Given the description of an element on the screen output the (x, y) to click on. 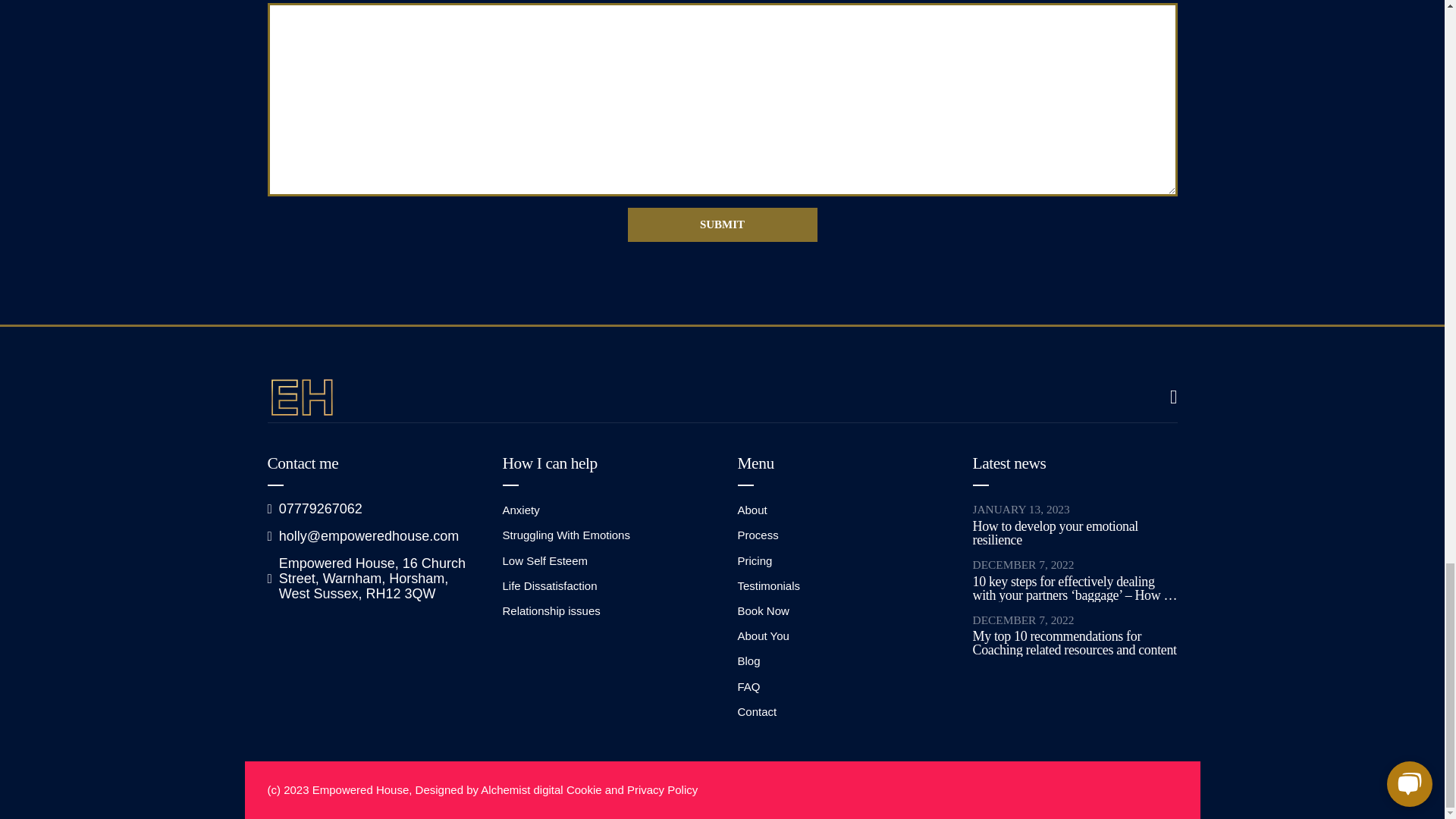
Anxiety (520, 509)
Life Dissatisfaction (549, 585)
Low Self Esteem (545, 560)
About (751, 509)
Struggling With Emotions (565, 534)
Submit (721, 224)
Submit (721, 224)
07779267062 (313, 509)
Relationship issues (550, 610)
